Given the description of an element on the screen output the (x, y) to click on. 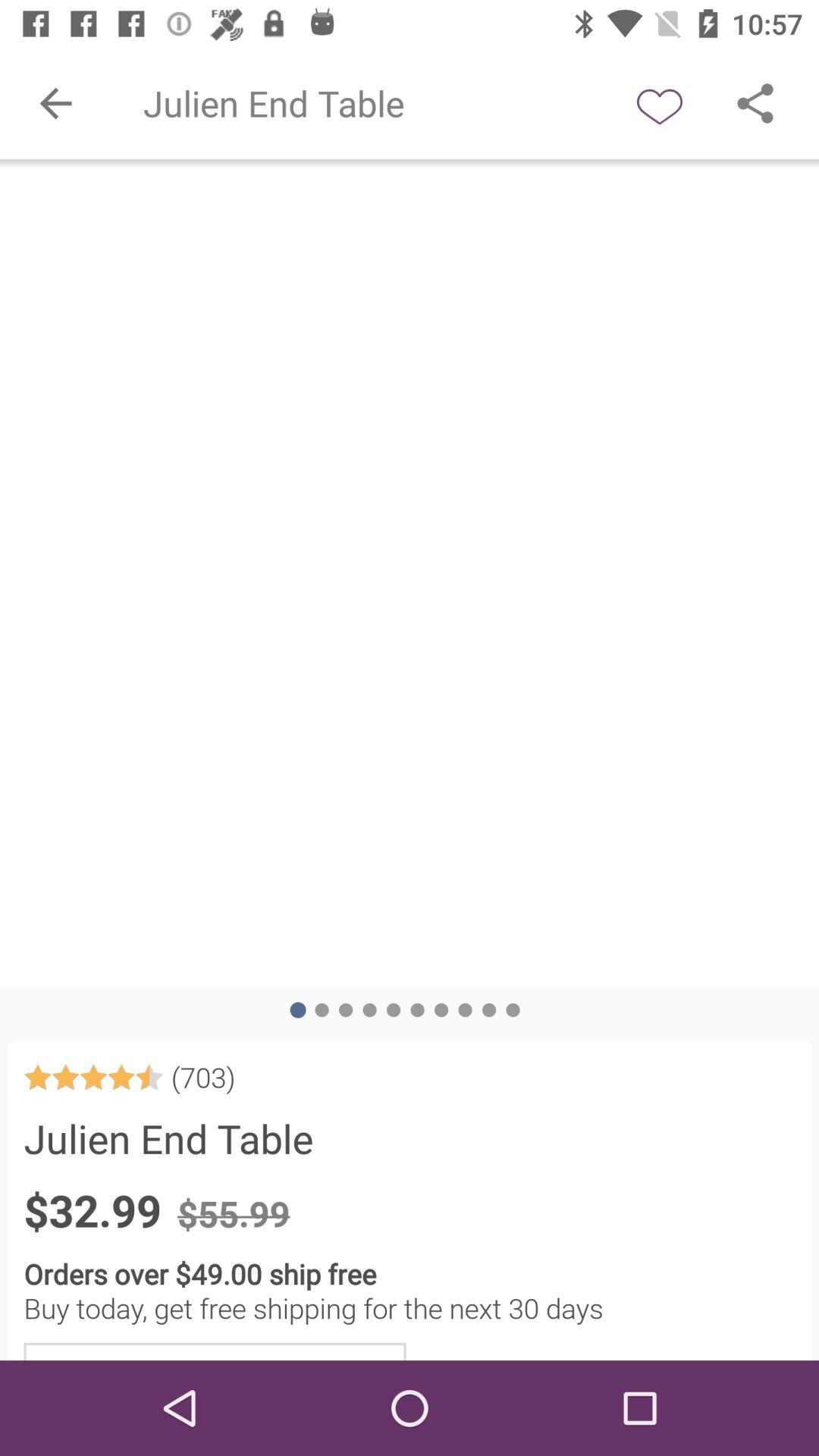
heart or like icon (659, 103)
